Given the description of an element on the screen output the (x, y) to click on. 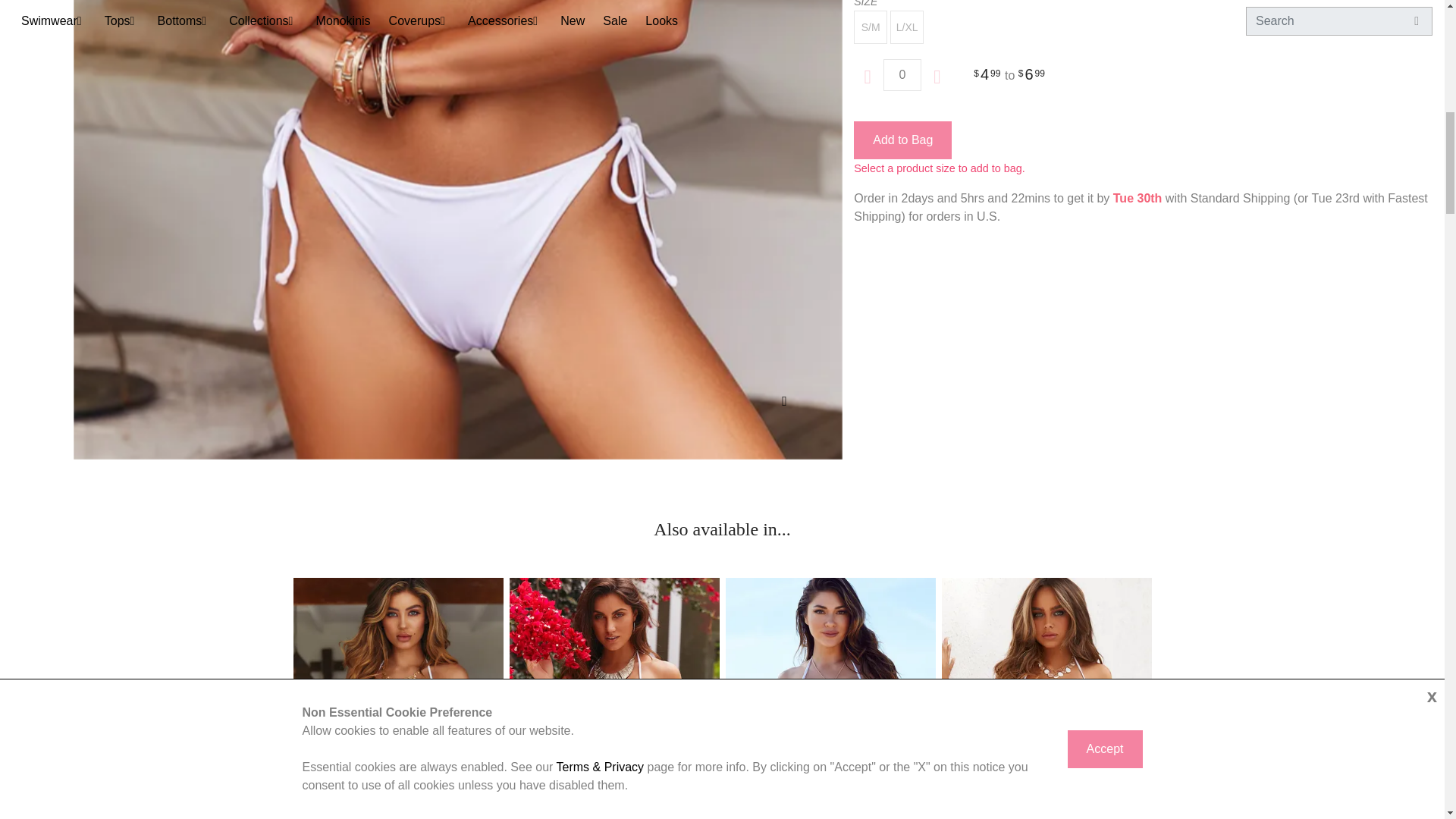
0 (902, 74)
